Given the description of an element on the screen output the (x, y) to click on. 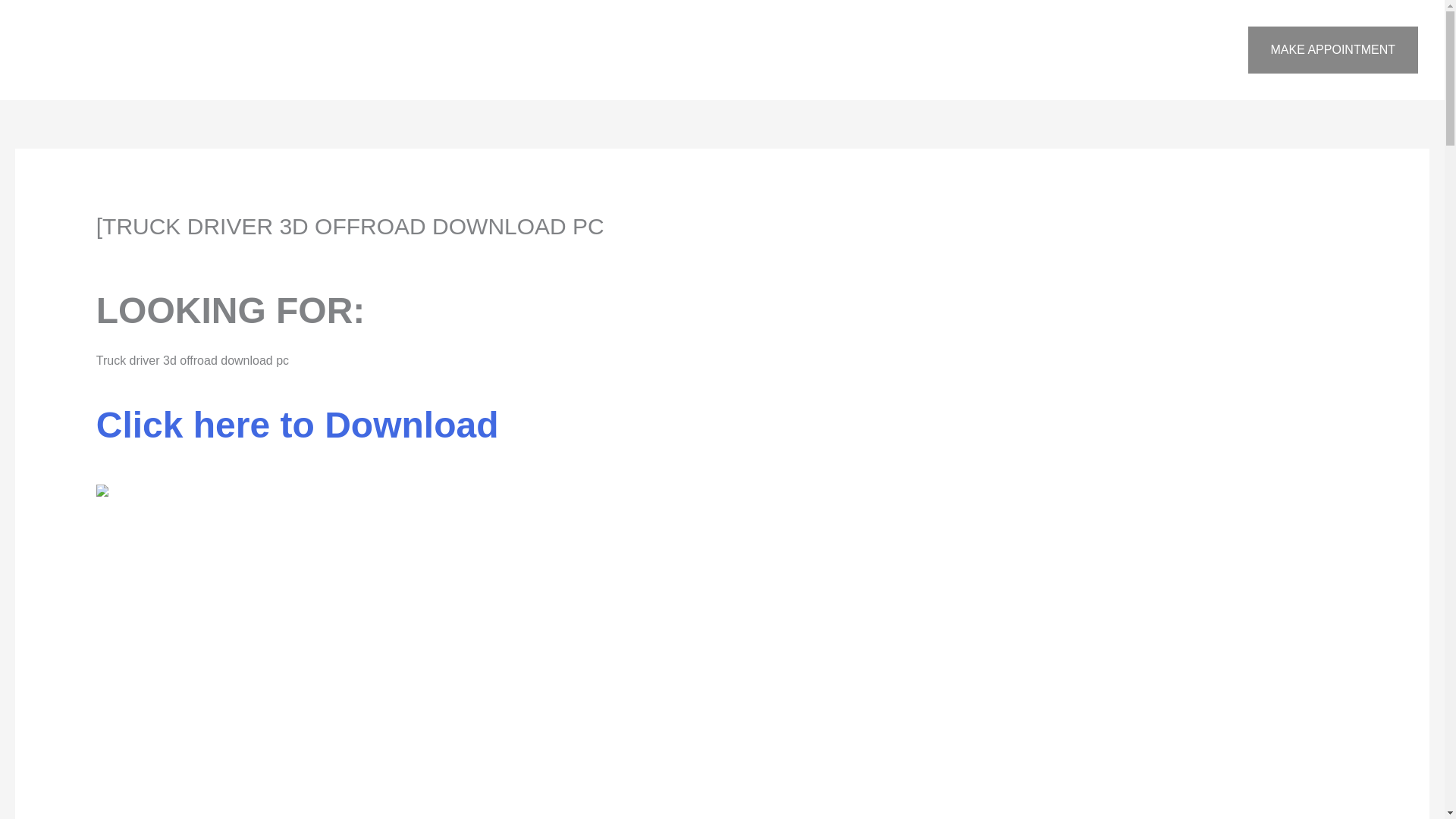
CONTACT US (1115, 49)
View all posts by Harsh Bansal (292, 253)
BLOGS (1198, 49)
Leave a Comment (145, 253)
HOME (862, 49)
Click here to Download (297, 432)
ABOUT US (936, 49)
SERVICES (1021, 49)
mcc (216, 253)
Harsh Bansal (292, 253)
MAKE APPOINTMENT (1332, 49)
